Given the description of an element on the screen output the (x, y) to click on. 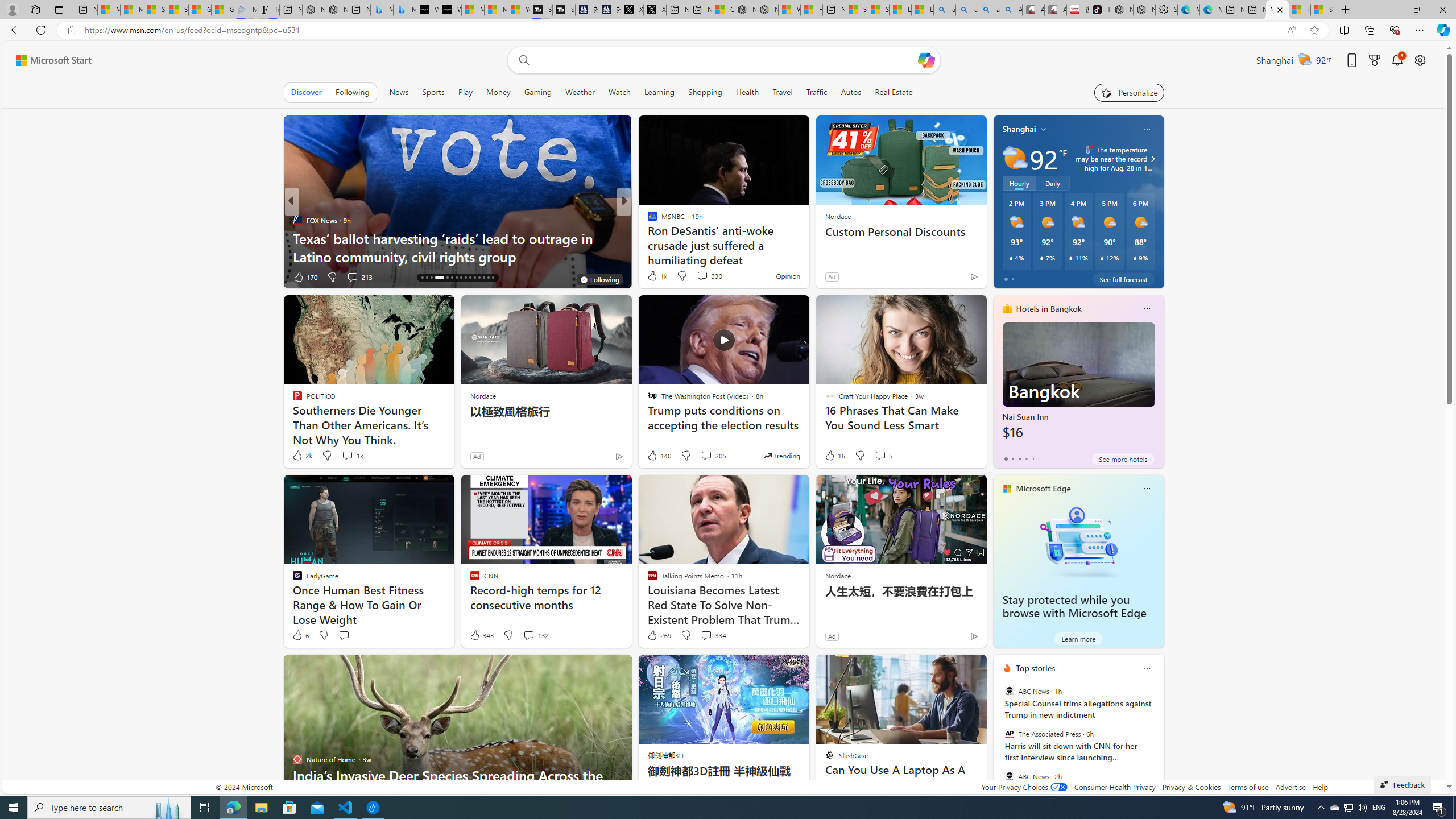
View comments 132 Comment (535, 634)
Travel (782, 92)
View comments 2 Comment (702, 276)
See full forecast (1123, 278)
tab-4 (1032, 458)
Sports (432, 92)
I Gained 20 Pounds of Muscle in 30 Days! | Watch (1300, 9)
Partly sunny (1014, 158)
The Associated Press (1008, 733)
previous (998, 741)
